Given the description of an element on the screen output the (x, y) to click on. 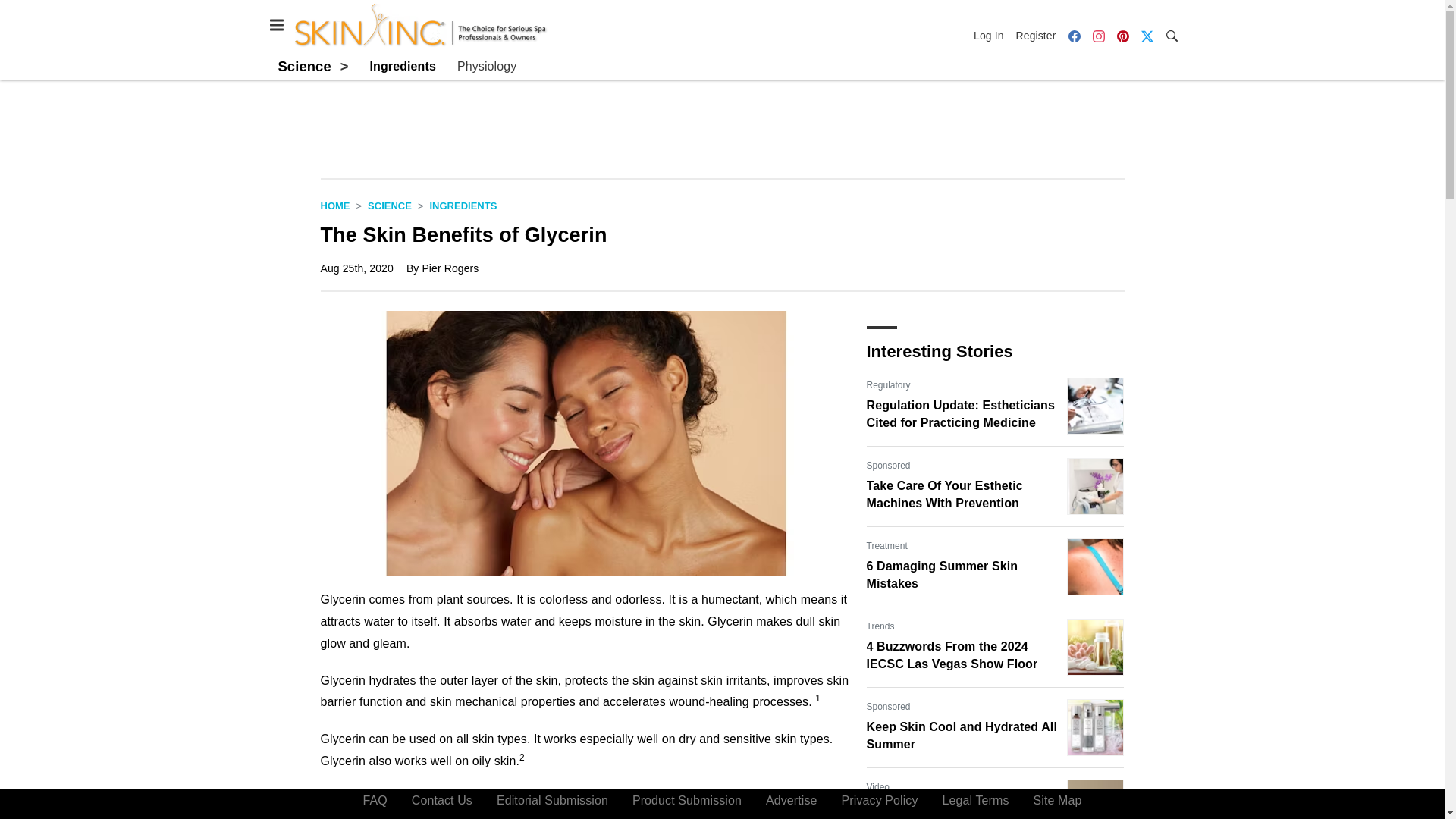
Instagram icon (1097, 35)
Log In (992, 35)
Ingredients (402, 66)
Instagram icon (1097, 36)
Pinterest icon (1122, 36)
Sponsored (888, 706)
Ingredients (462, 205)
Treatment (886, 545)
Twitter X icon (1146, 35)
SCIENCE (390, 205)
Pinterest icon (1121, 35)
Science (390, 205)
HOME (334, 205)
Home (334, 205)
Science (304, 65)
